Given the description of an element on the screen output the (x, y) to click on. 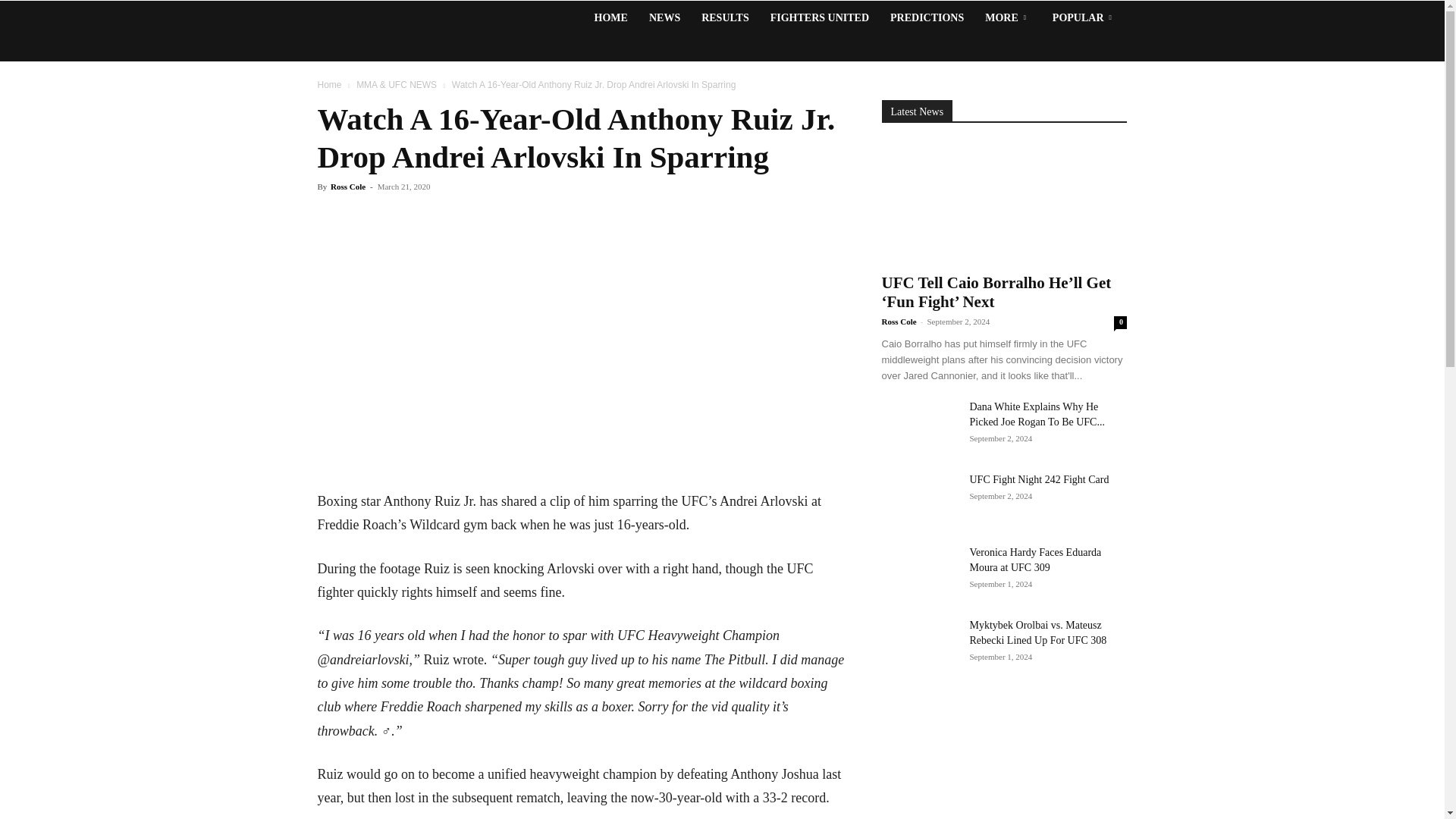
RESULTS (725, 18)
UFC Fight Night 242 Fight Card (1038, 479)
POPULAR (1084, 18)
MORE (1008, 18)
FIGHTERS UNITED (819, 18)
UFC Fight Night 242 Fight Card (918, 498)
HOME (611, 18)
PREDICTIONS (926, 18)
NEWS (664, 18)
